Given the description of an element on the screen output the (x, y) to click on. 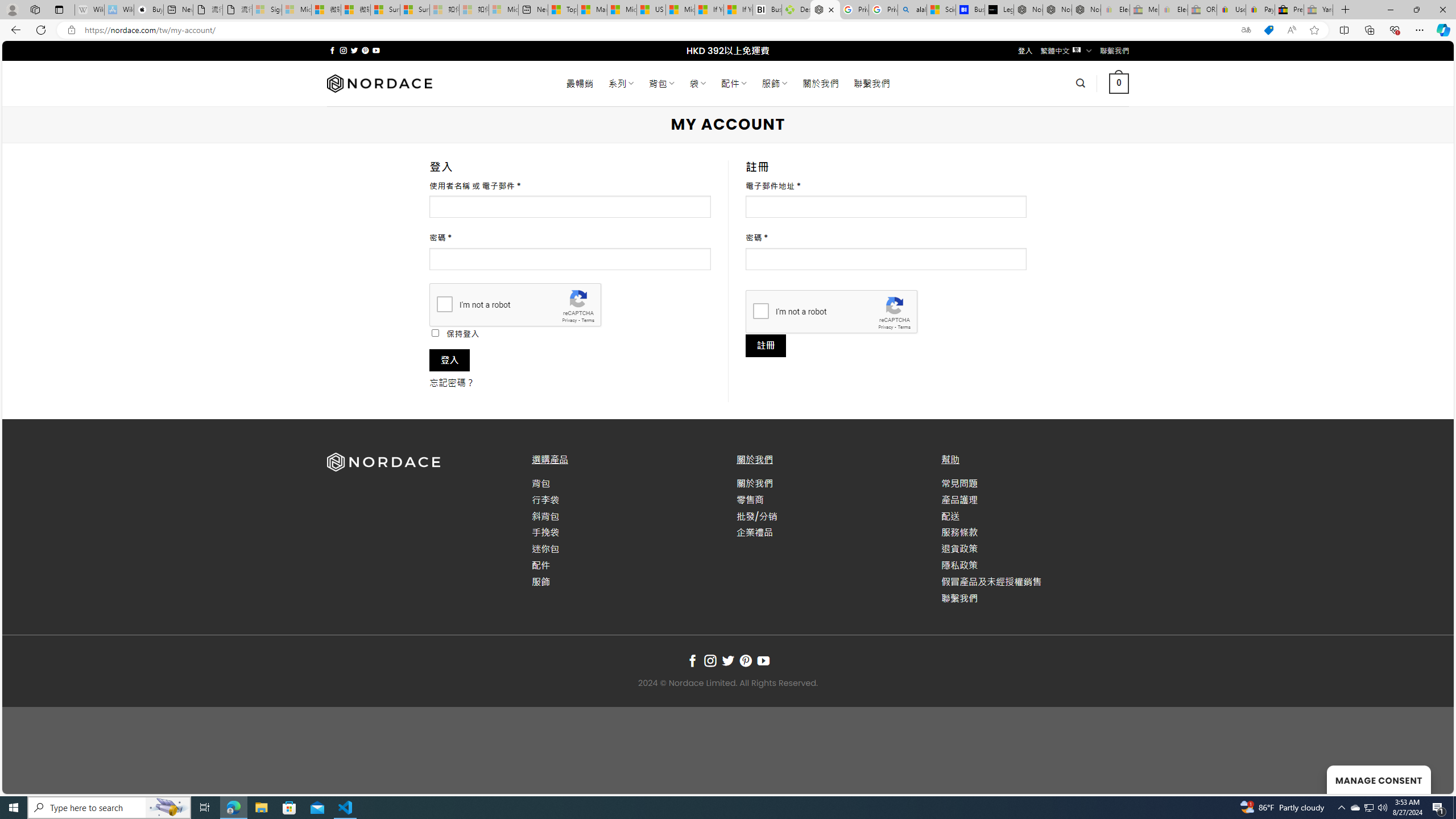
Follow on Instagram (710, 660)
Microsoft Services Agreement - Sleeping (295, 9)
